Given the description of an element on the screen output the (x, y) to click on. 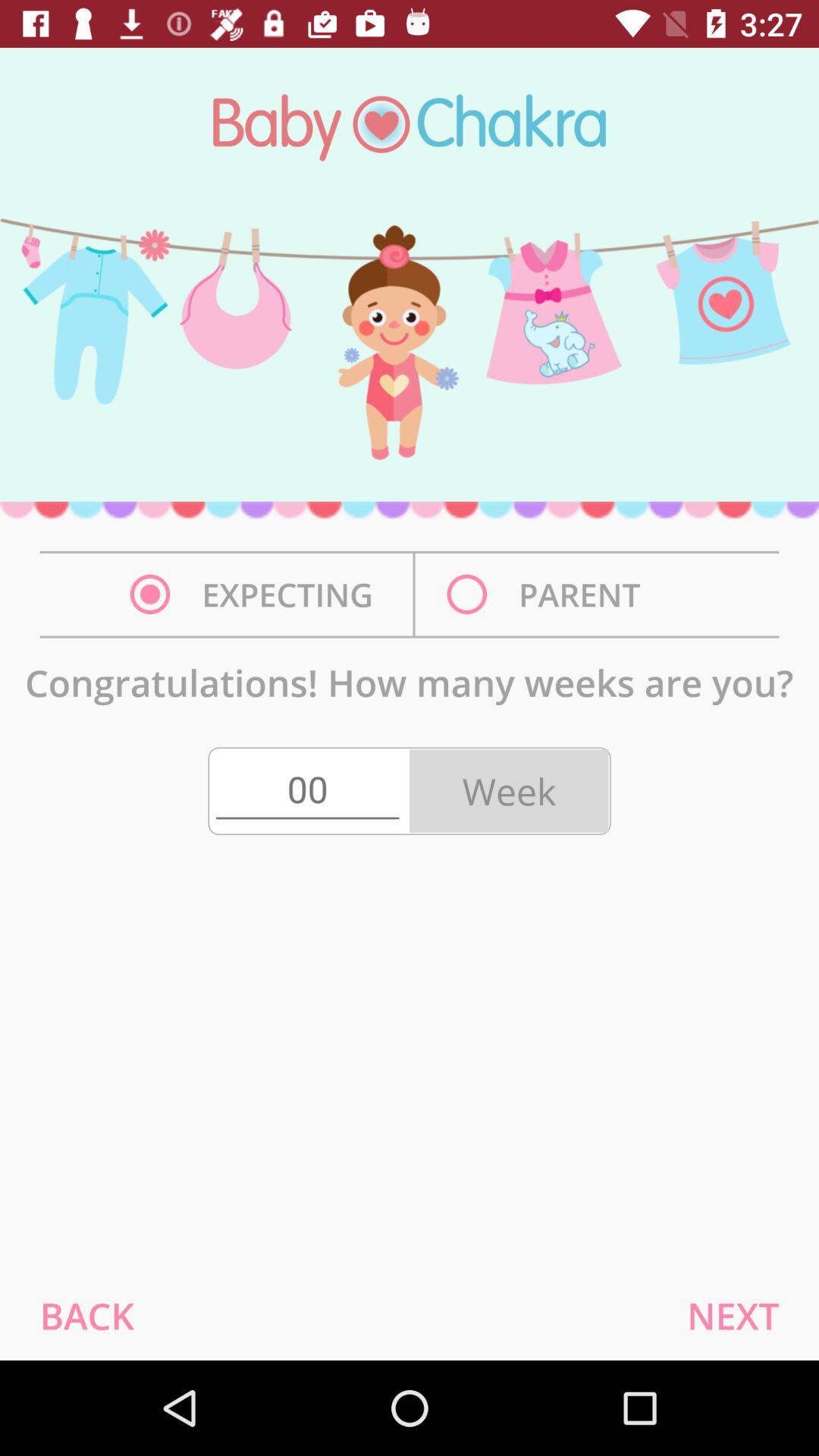
swipe until the back (86, 1315)
